Given the description of an element on the screen output the (x, y) to click on. 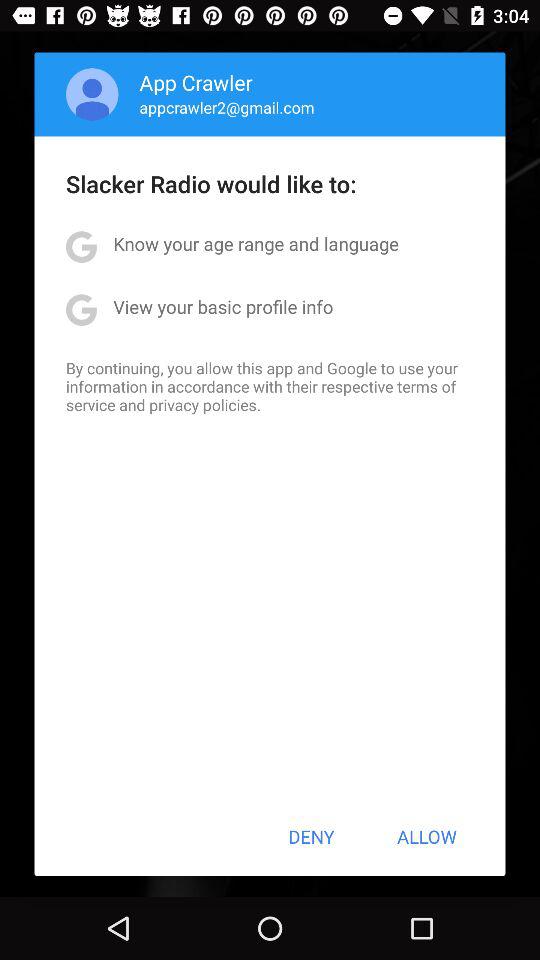
select the item below by continuing you app (311, 836)
